Given the description of an element on the screen output the (x, y) to click on. 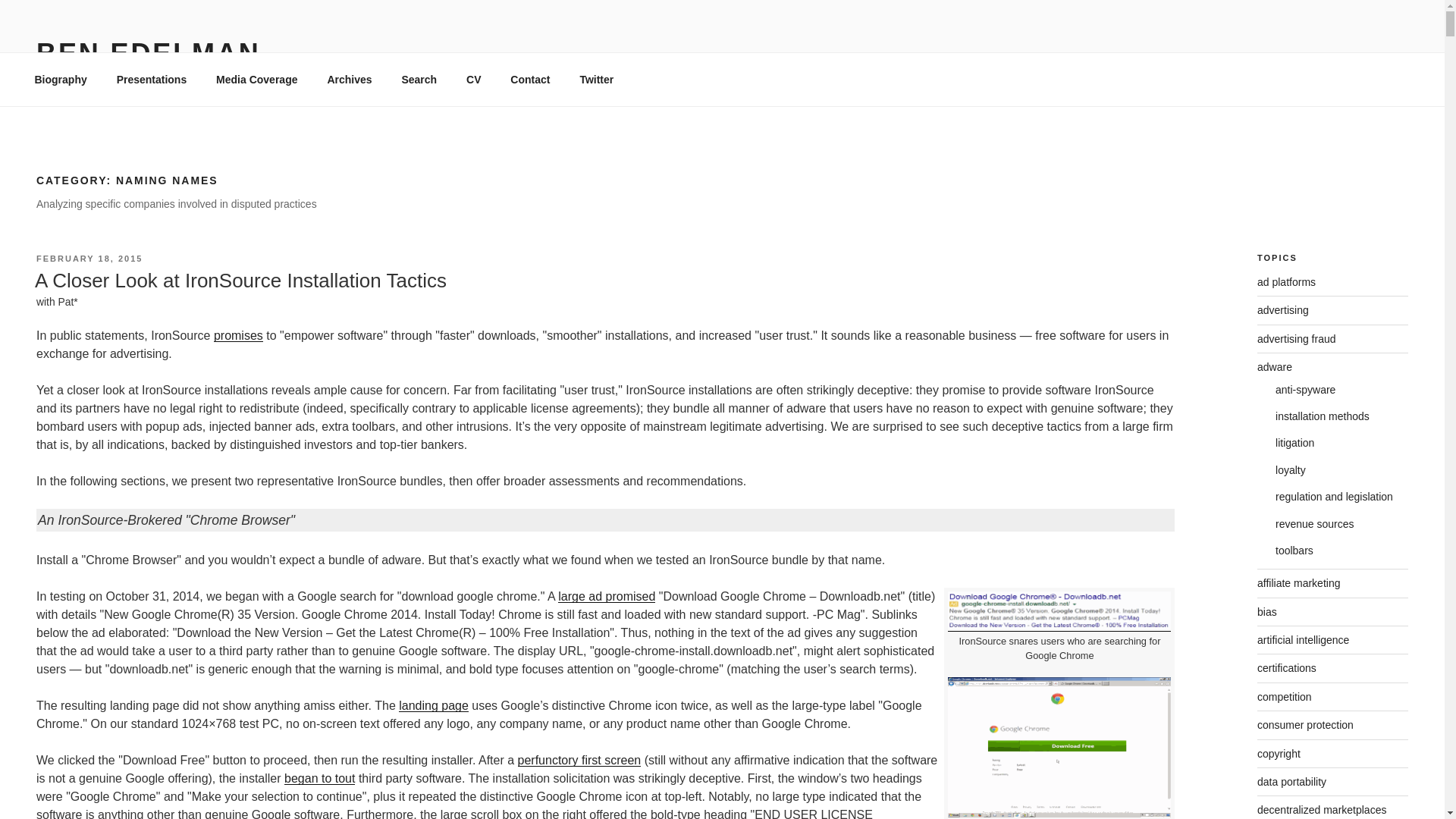
promises (238, 335)
landing page (433, 705)
Contact (530, 78)
Media Coverage (257, 78)
Twitter (596, 78)
Presentations (151, 78)
FEBRUARY 18, 2015 (89, 257)
began to tout (319, 778)
Archives (349, 78)
Search (418, 78)
large ad promised (606, 595)
BEN EDELMAN (148, 52)
perfunctory first screen (580, 759)
CV (473, 78)
Biography (60, 78)
